Given the description of an element on the screen output the (x, y) to click on. 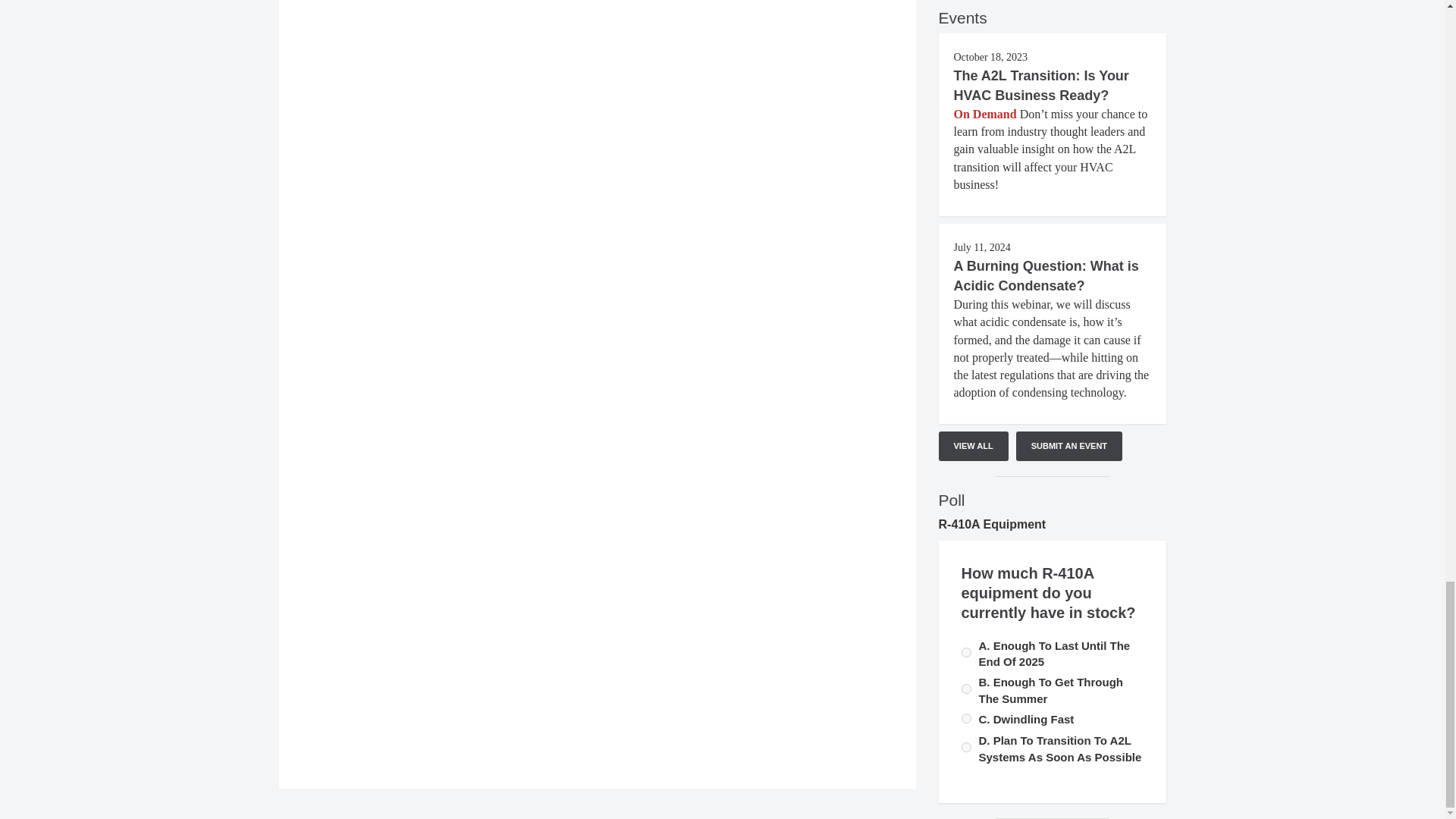
598 (965, 718)
A Burning Question: What is Acidic Condensate? (1045, 275)
599 (965, 747)
596 (965, 688)
597 (965, 652)
The A2L Transition: Is Your HVAC Business Ready? (1041, 85)
